Given the description of an element on the screen output the (x, y) to click on. 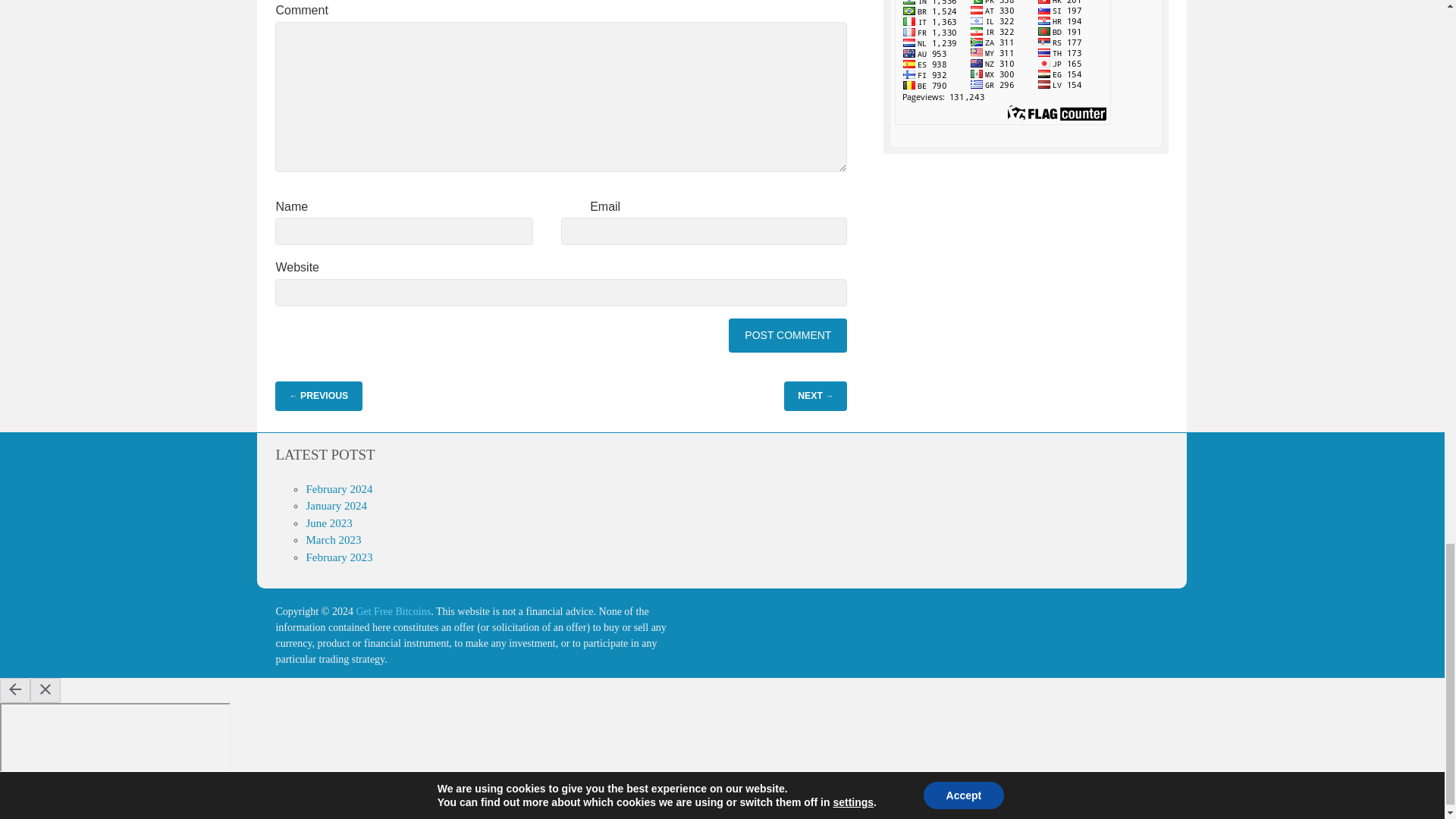
Get Free Bitcoins (392, 611)
March 2023 (333, 539)
Post Comment (788, 335)
Post Comment (788, 335)
June 2023 (328, 522)
January 2024 (335, 505)
Get Free Bitcoins (392, 611)
February 2024 (338, 489)
February 2023 (338, 557)
